Given the description of an element on the screen output the (x, y) to click on. 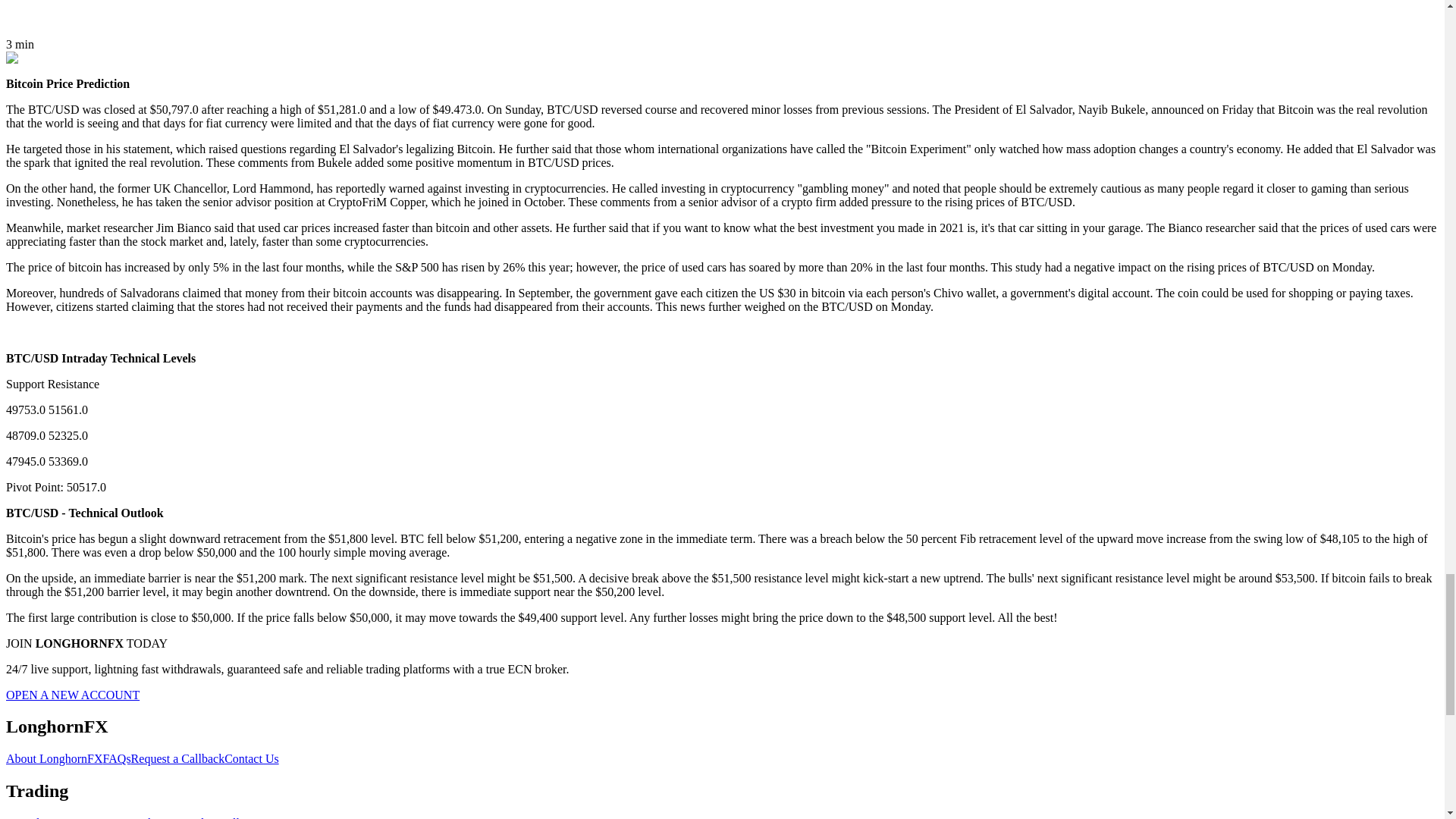
Digital Assets (39, 817)
Stocks (142, 817)
FAQs (117, 758)
Request a Callback (178, 758)
Currencies (99, 817)
All Assets (248, 817)
Contact Us (251, 758)
OPEN A NEW ACCOUNT (72, 694)
About LonghornFX (54, 758)
Commodities (191, 817)
